Given the description of an element on the screen output the (x, y) to click on. 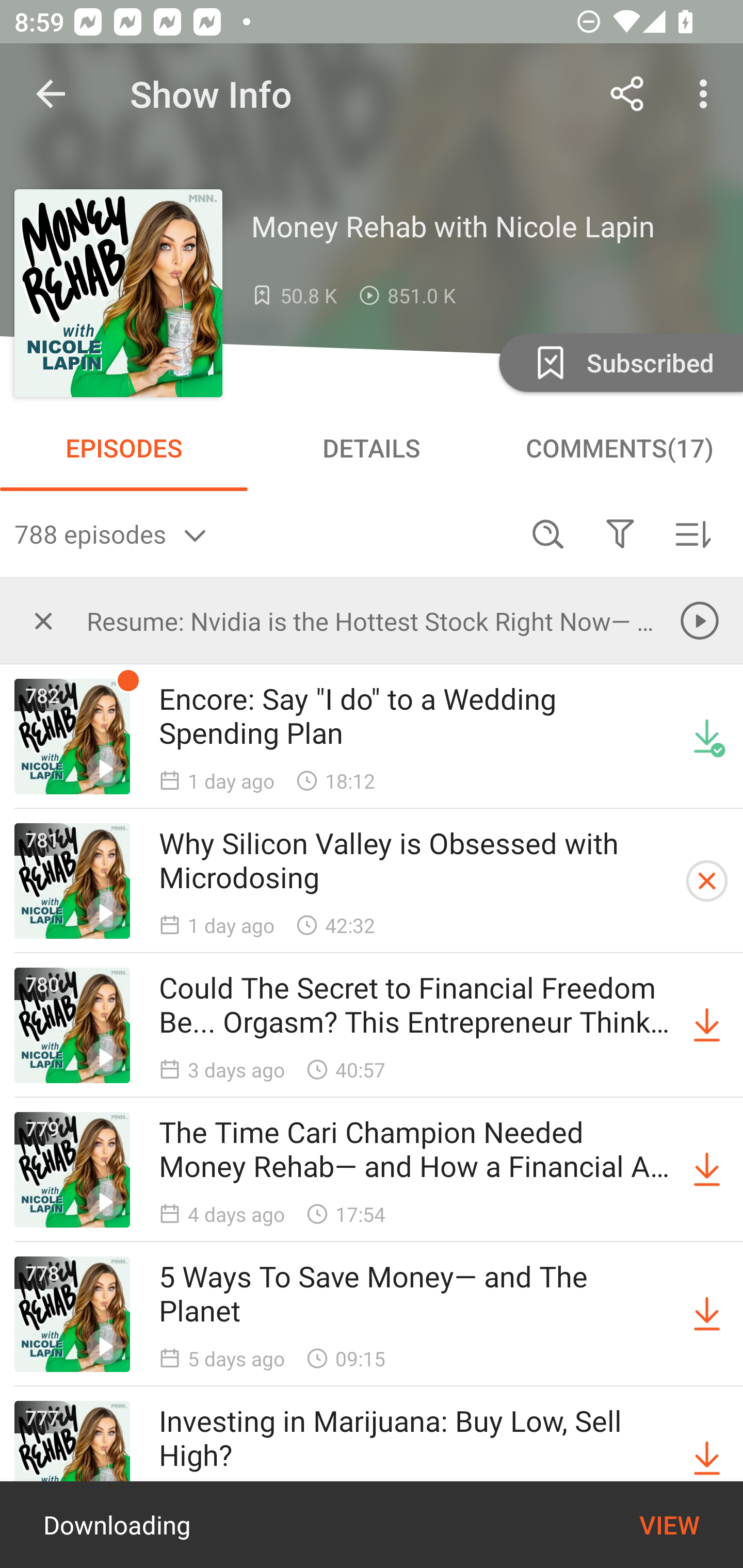
Navigate up (50, 93)
Share (626, 93)
More options (706, 93)
Unsubscribe Subscribed (619, 361)
EPISODES (123, 447)
DETAILS (371, 447)
COMMENTS(17) (619, 447)
788 episodes  (262, 533)
 Search (547, 533)
 (619, 533)
 Sorted by newest first (692, 533)
 (43, 620)
Downloaded (706, 736)
Cancel Downloading (706, 881)
Download (706, 1025)
Download (706, 1169)
Download (706, 1313)
Download (706, 1458)
Downloading VIEW (371, 1524)
VIEW (669, 1524)
